Given the description of an element on the screen output the (x, y) to click on. 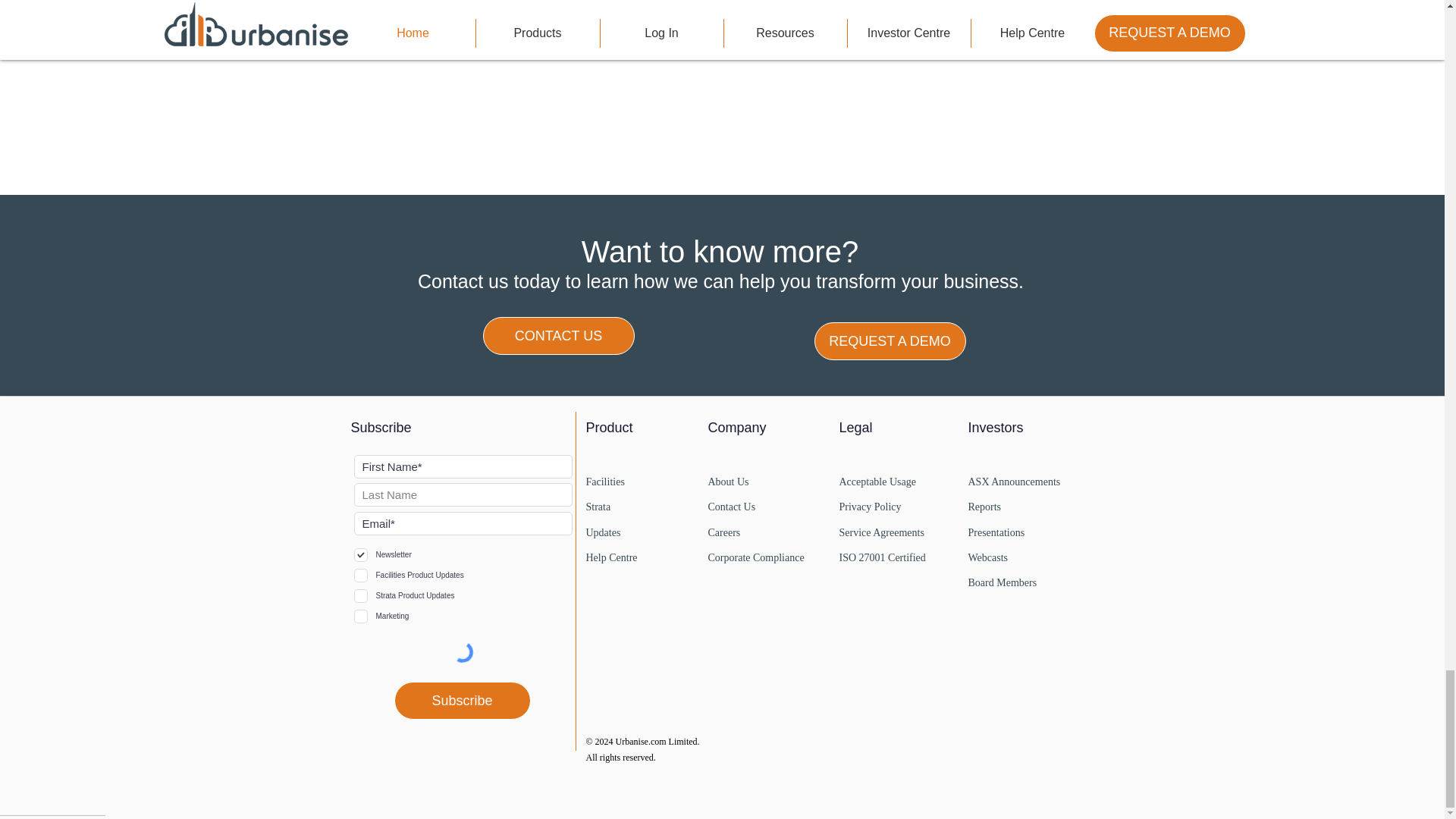
CONTACT US (557, 335)
REQUEST A DEMO (889, 341)
Subscribe (462, 700)
